Given the description of an element on the screen output the (x, y) to click on. 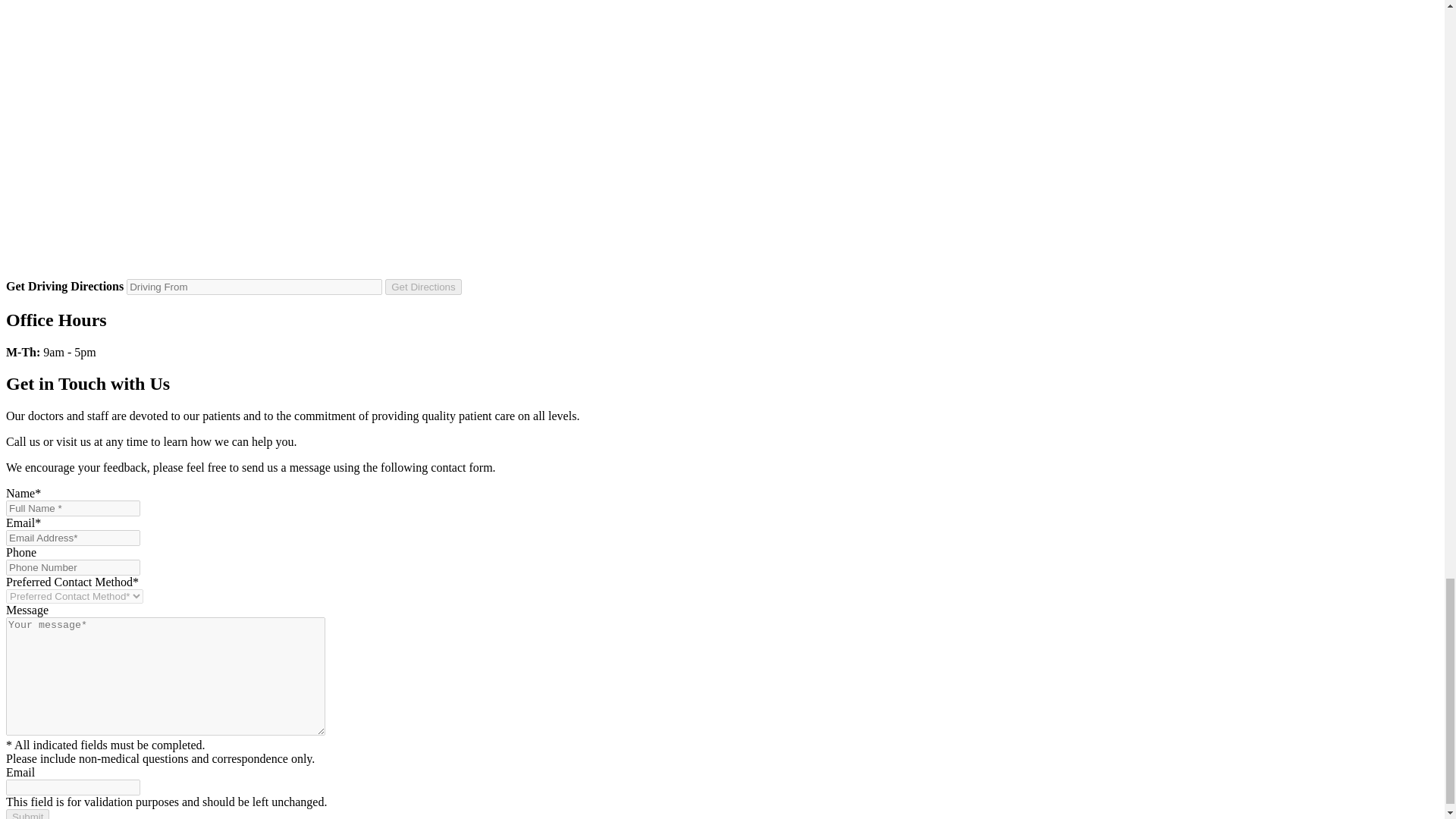
Get Directions (423, 286)
